Given the description of an element on the screen output the (x, y) to click on. 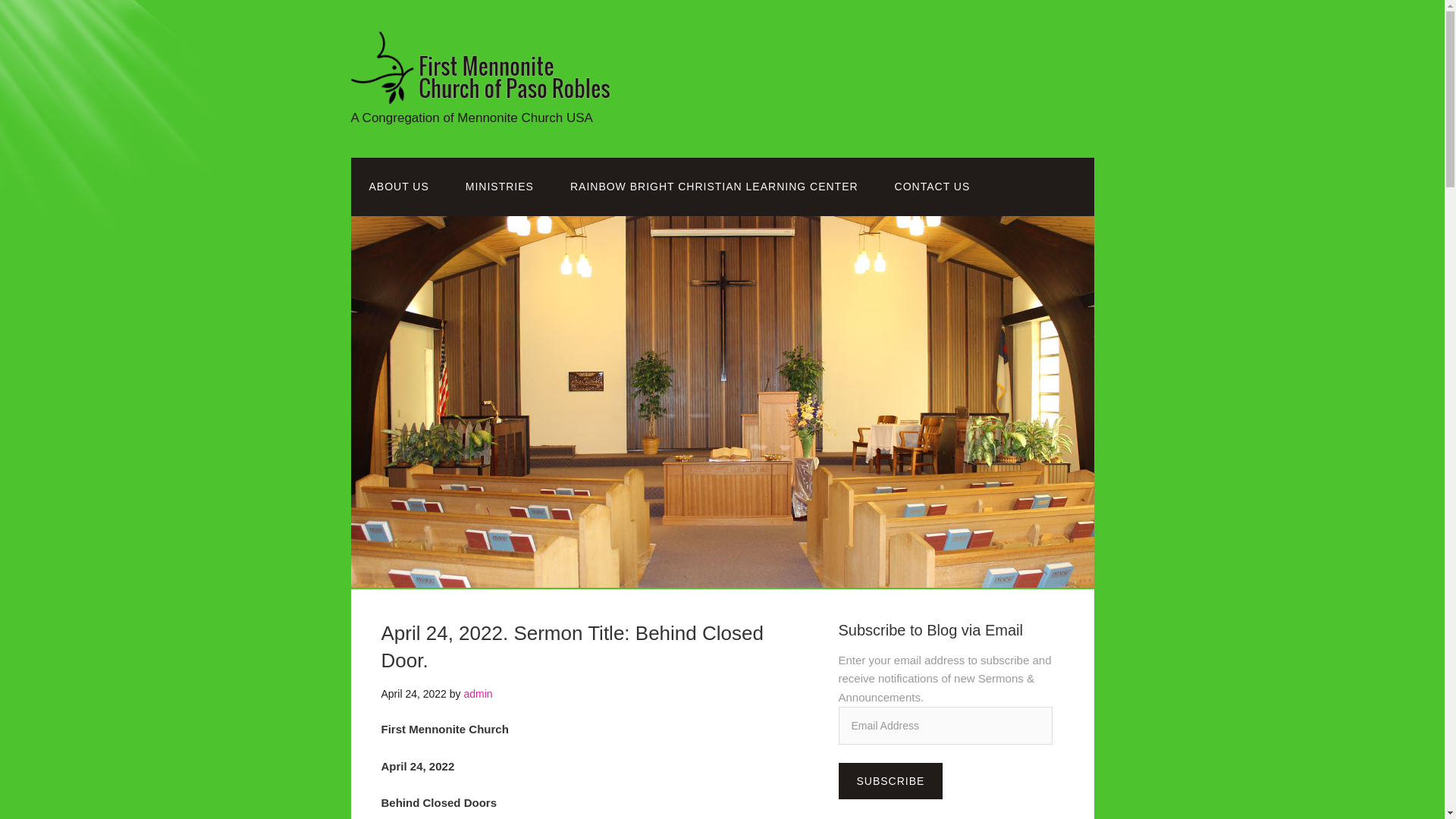
RAINBOW BRIGHT CHRISTIAN LEARNING CENTER (713, 187)
Posts by admin (477, 693)
Subscribe (890, 780)
CONTACT US (932, 187)
Sunday, April 24, 2022, 1:47 am (412, 693)
First Mennonite Church of Paso Robles (501, 91)
Subscribe (890, 780)
MINISTRIES (498, 187)
ABOUT US (398, 187)
admin (477, 693)
